Given the description of an element on the screen output the (x, y) to click on. 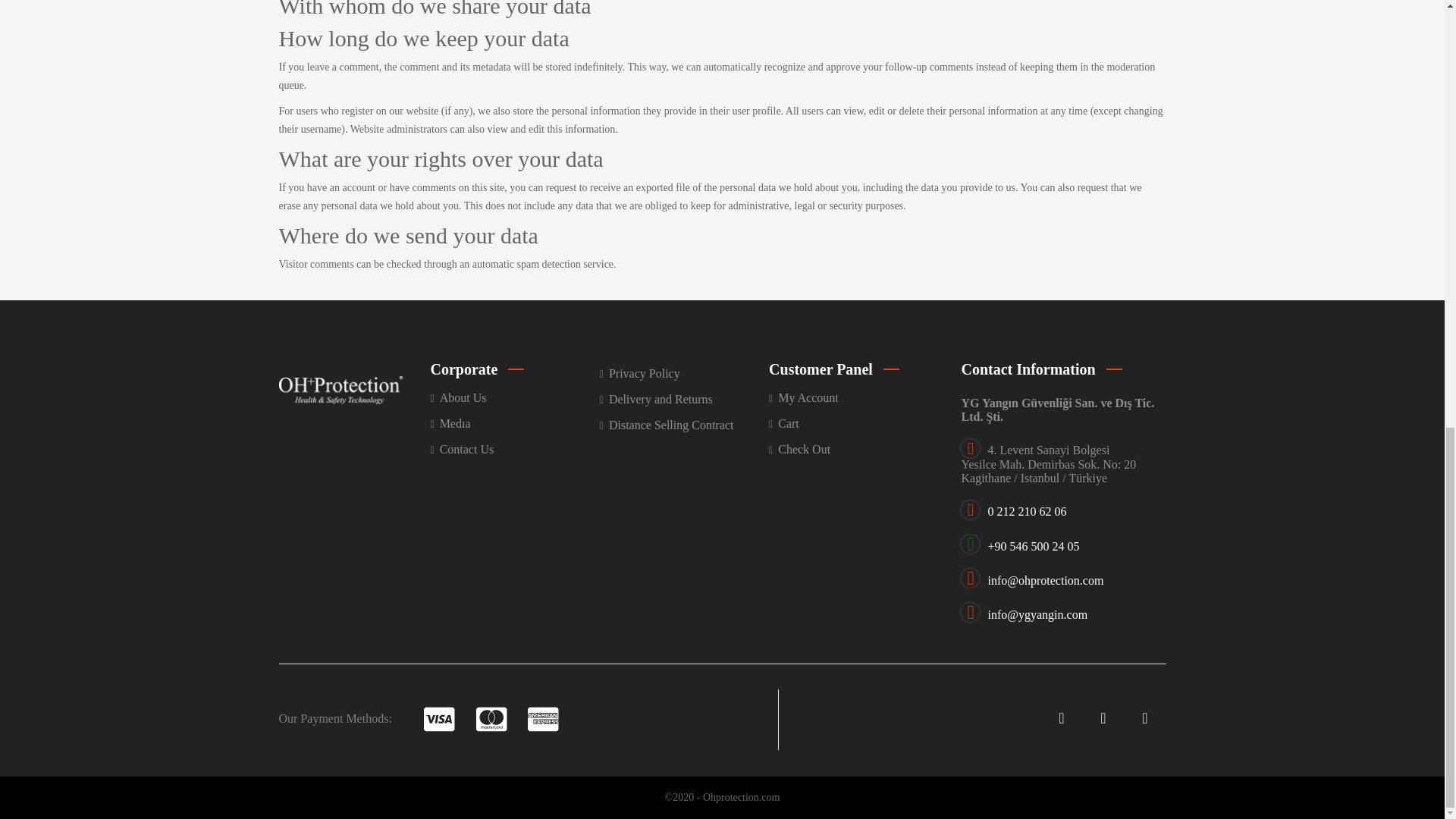
0 212 210 62 06 (1026, 511)
Delivery and Returns (683, 399)
My Account (852, 397)
Instagram (1143, 718)
About Us (514, 397)
Cart (852, 423)
Distance Selling Contract (683, 425)
Privacy Policy (683, 373)
Contact Us (514, 449)
Face Book (1060, 718)
